Given the description of an element on the screen output the (x, y) to click on. 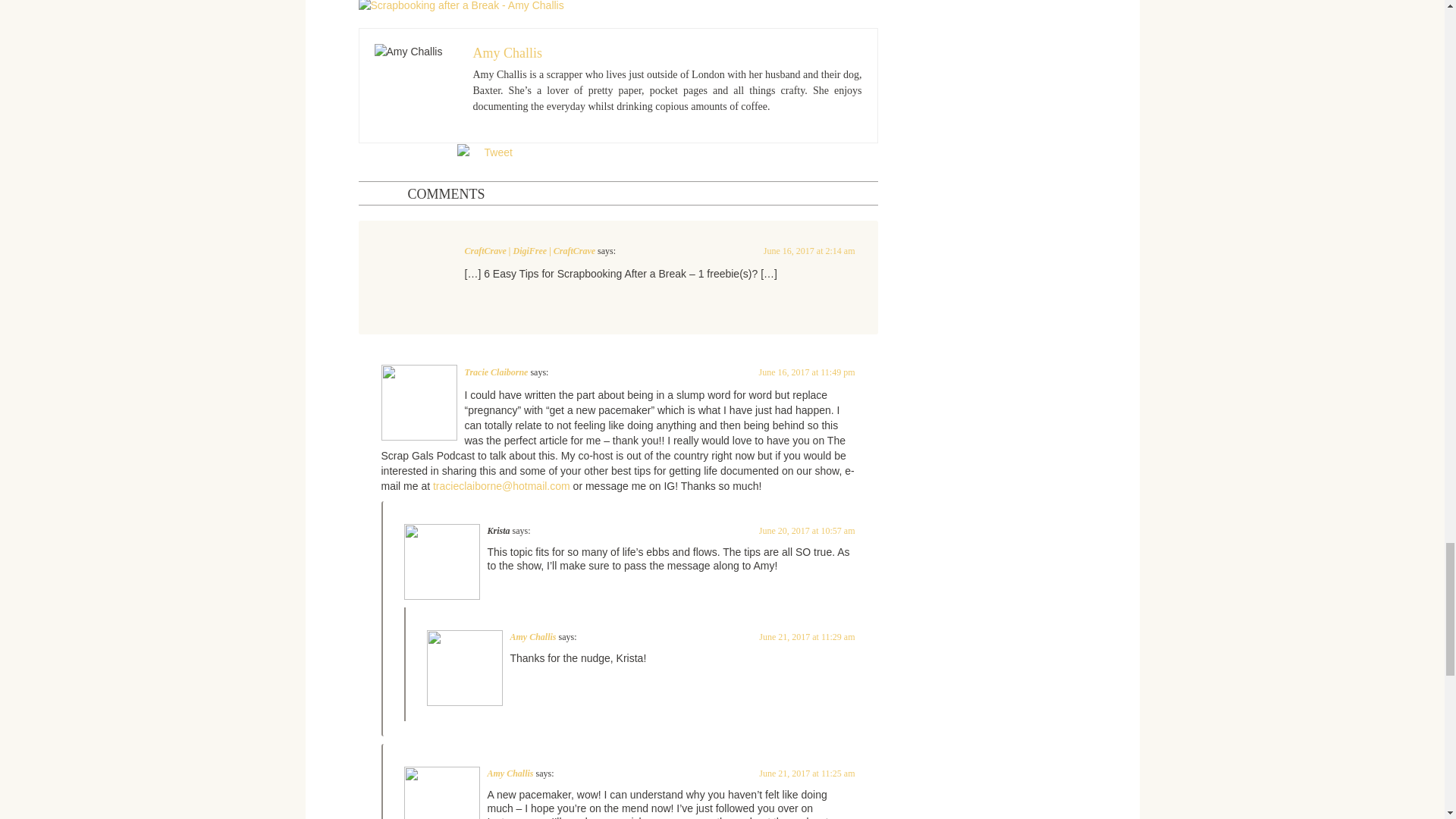
Amy Challis (508, 52)
June 16, 2017 at 11:49 pm (807, 371)
June 16, 2017 at 2:14 am (809, 250)
Tracie Claiborne (495, 371)
Tweet (497, 152)
